Given the description of an element on the screen output the (x, y) to click on. 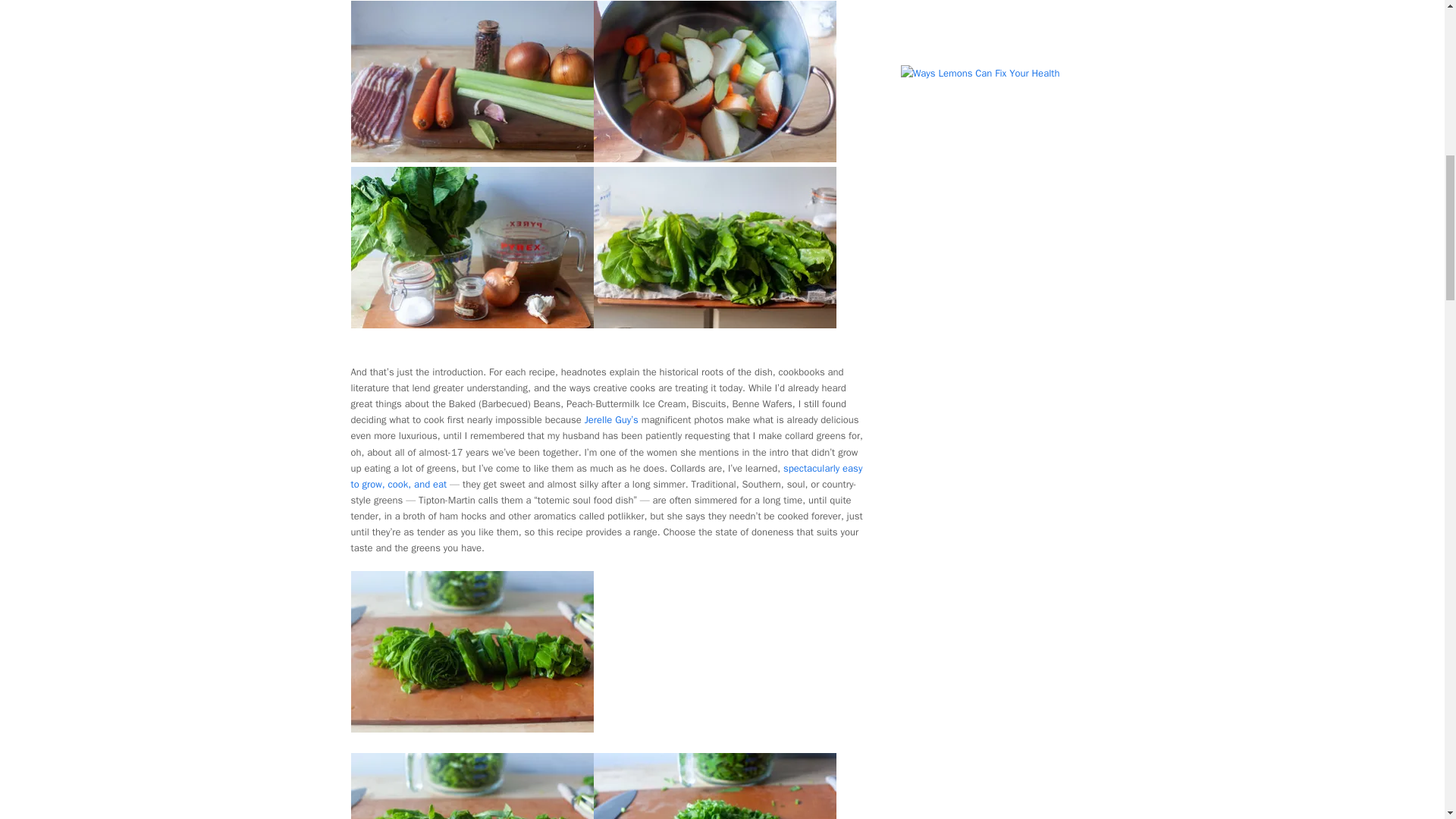
ready to make the greens (471, 324)
wash your greens (713, 324)
the vegetables (713, 158)
ribbon the leaves (471, 728)
